Given the description of an element on the screen output the (x, y) to click on. 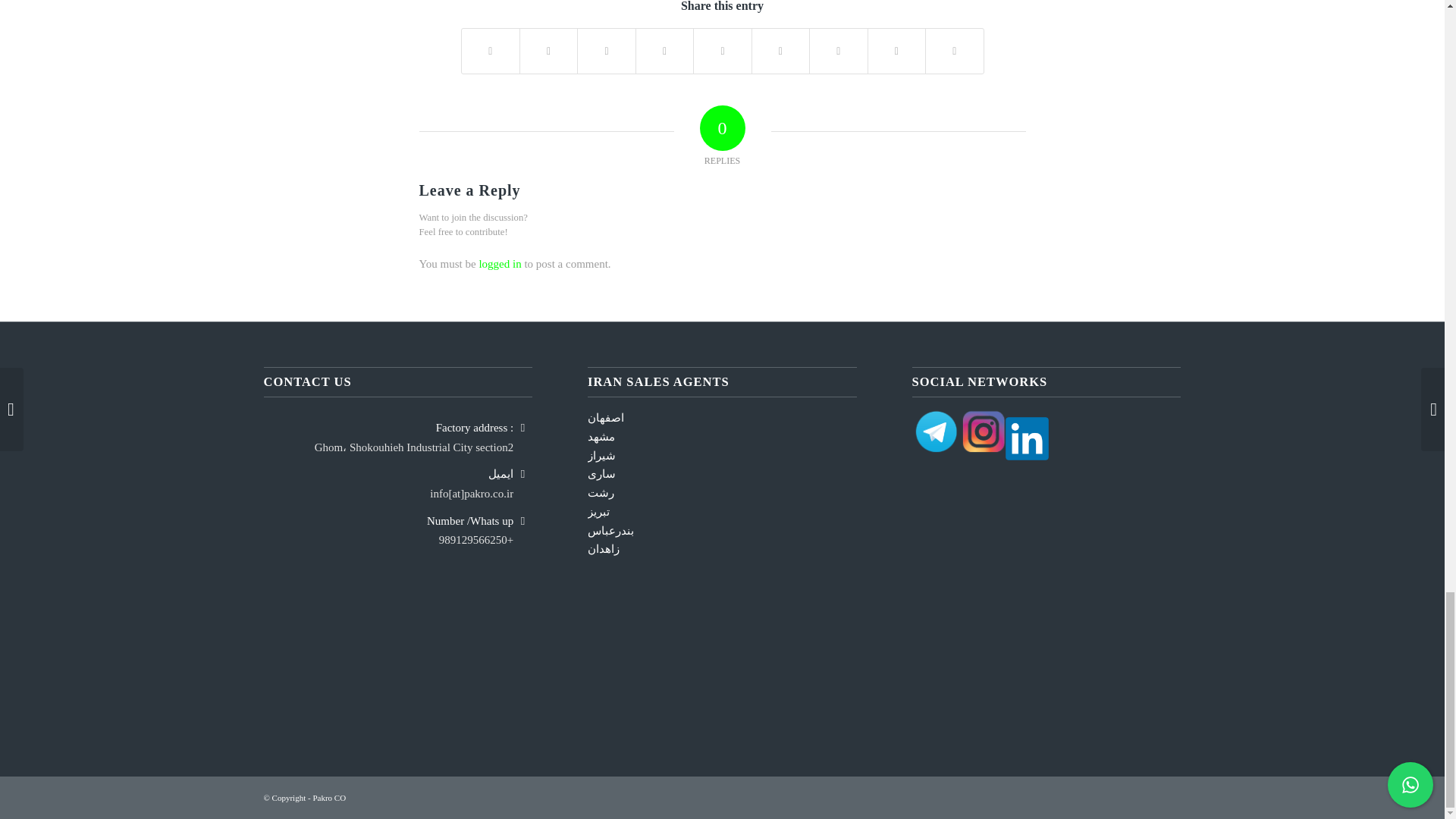
Pakro CO (329, 797)
logged in (500, 263)
